Given the description of an element on the screen output the (x, y) to click on. 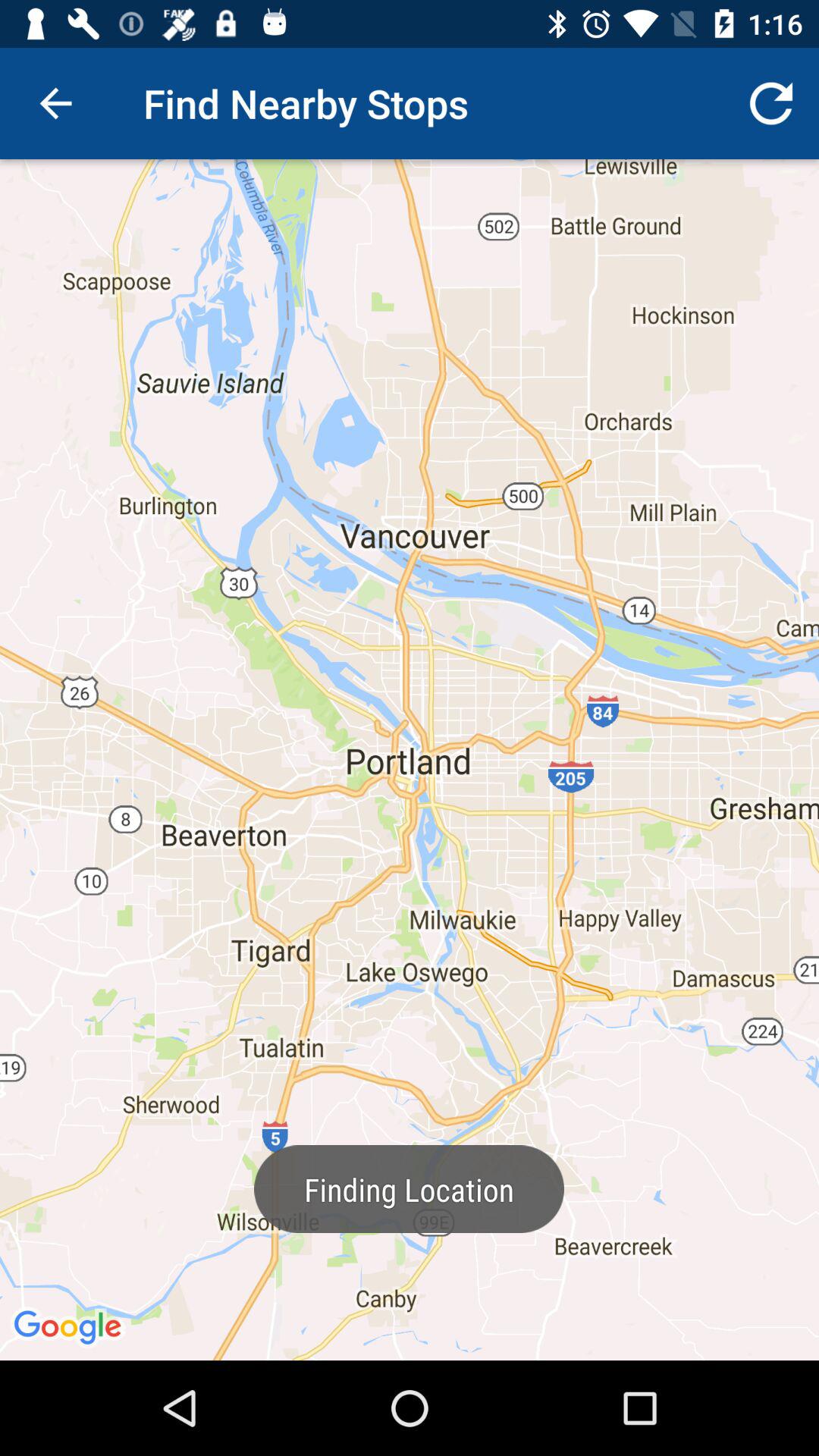
select icon next to the find nearby stops icon (771, 103)
